Given the description of an element on the screen output the (x, y) to click on. 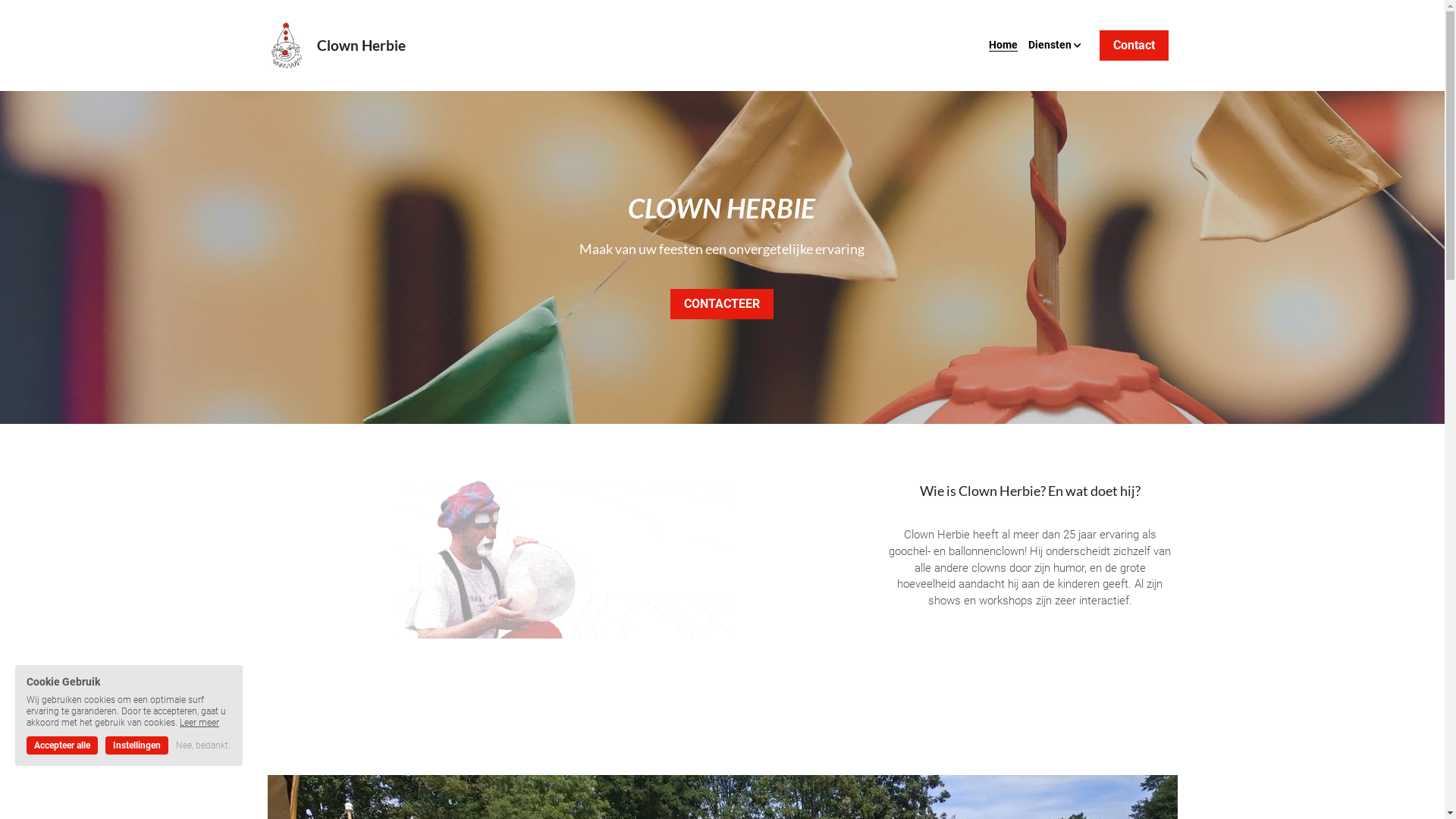
Contact Element type: text (1133, 45)
Clown Herbie Element type: text (360, 44)
Home Element type: text (1002, 45)
Leer meer Element type: text (199, 722)
CONTACTEER Element type: text (721, 303)
